Given the description of an element on the screen output the (x, y) to click on. 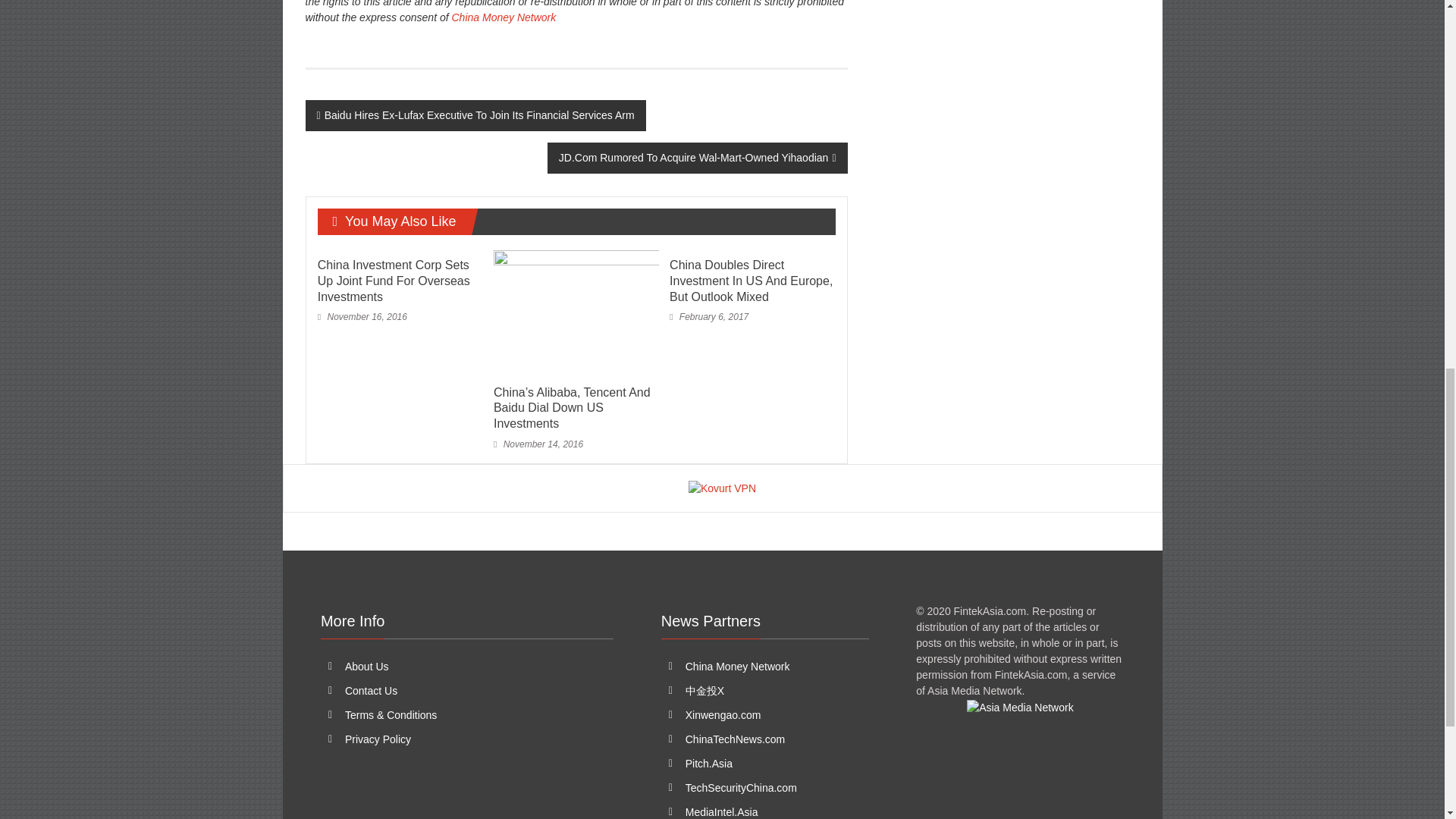
November 16, 2016 (362, 317)
China Money Network (737, 666)
10:22 am (538, 443)
11:42 am (708, 317)
5:33 pm (362, 317)
About Us (366, 666)
February 6, 2017 (708, 317)
Contact Us (371, 690)
Privacy Policy (377, 739)
China Money Network (503, 17)
November 14, 2016 (538, 443)
